Given the description of an element on the screen output the (x, y) to click on. 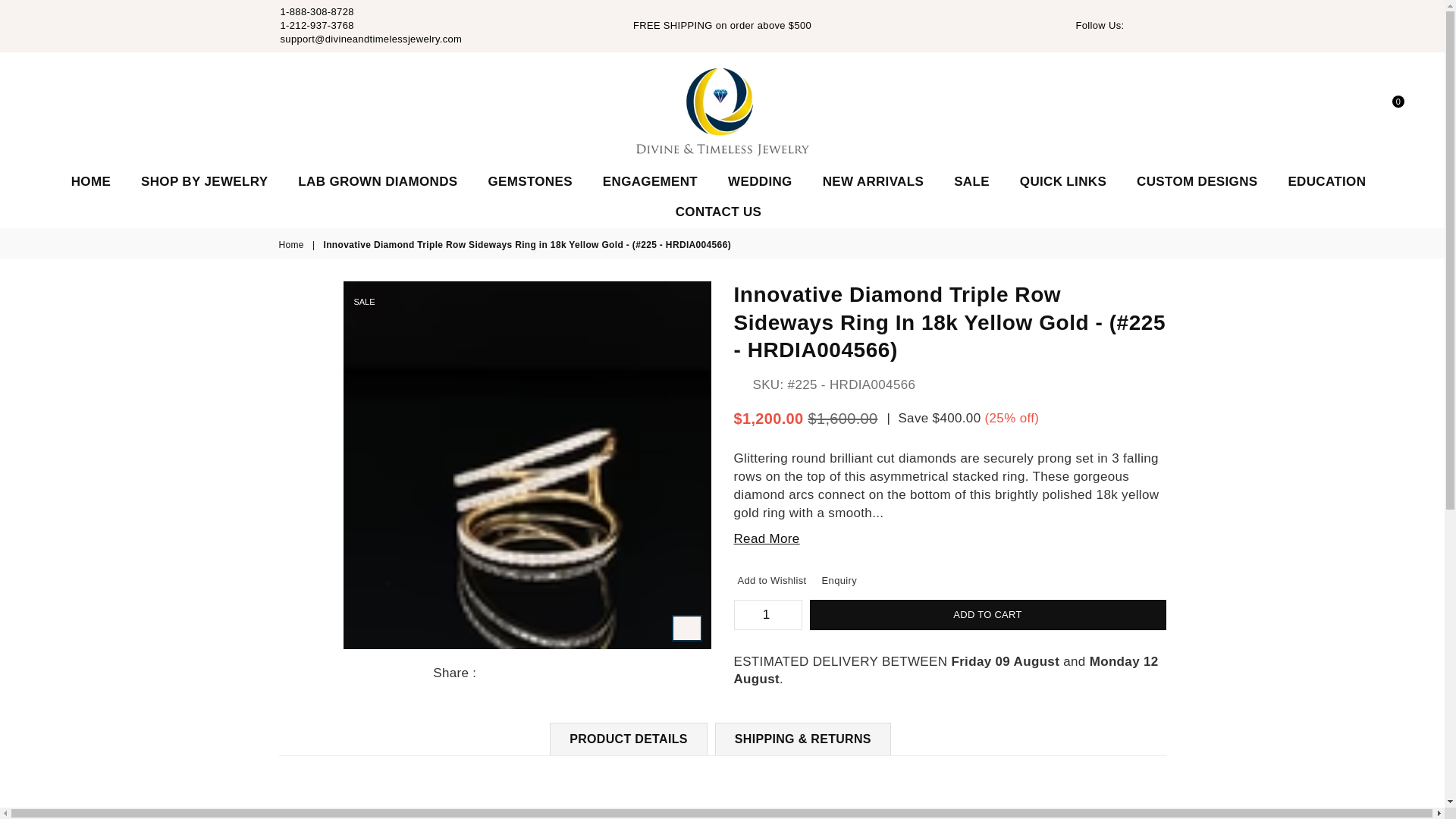
Back to the home page (292, 245)
Share on Linked In (532, 673)
0 (1392, 108)
HOME (90, 182)
Cart (1392, 108)
Share by Email (548, 673)
LAB GROWN DIAMONDS (377, 182)
Settings (1364, 108)
QUICK LINKS (1063, 182)
GEMSTONES (529, 182)
Wishlist (1378, 108)
Search (1350, 108)
SHOP BY JEWELRY (204, 182)
ENGAGEMENT (650, 182)
NEW ARRIVALS (872, 182)
